Given the description of an element on the screen output the (x, y) to click on. 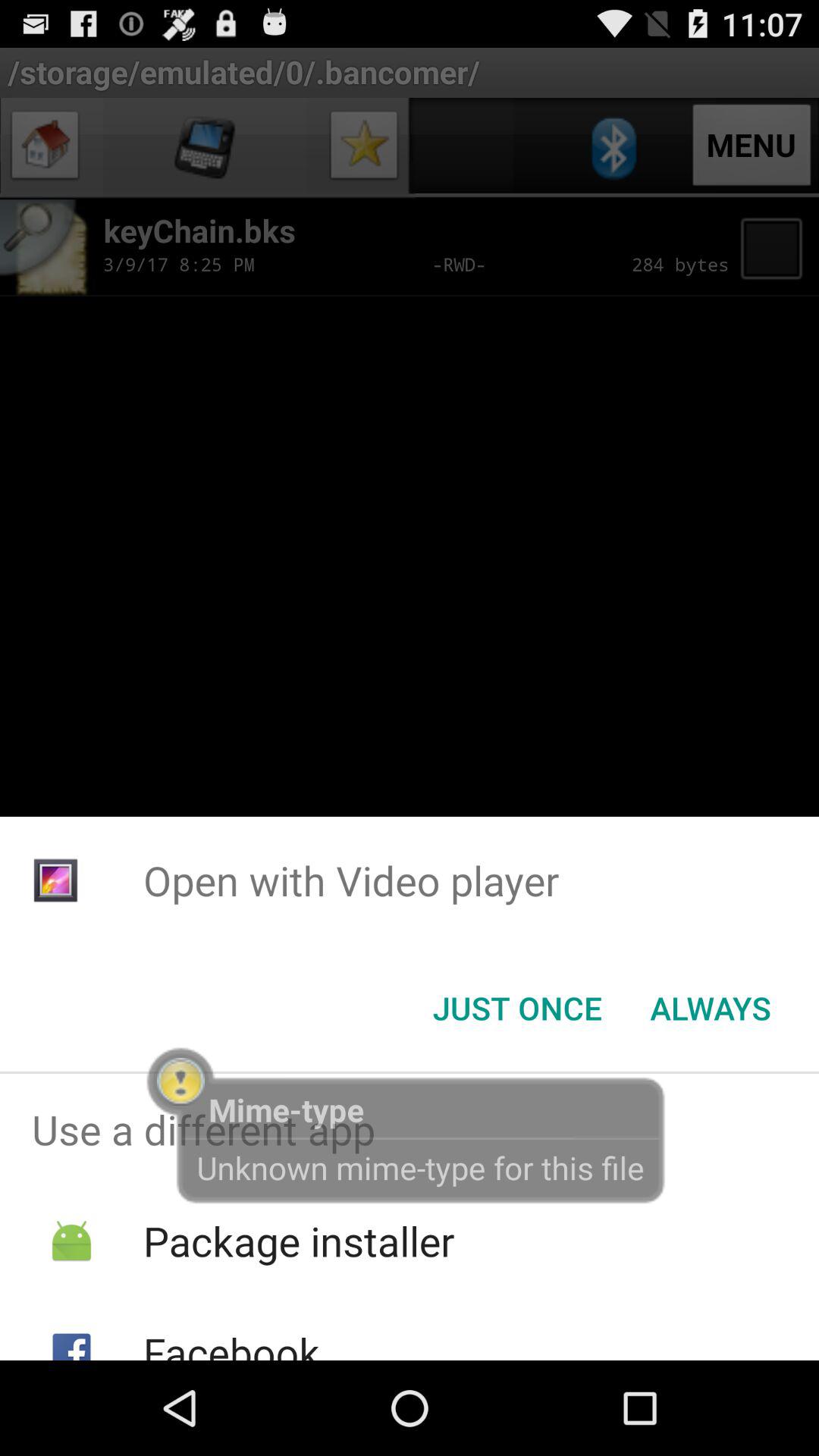
scroll to the use a different icon (409, 1129)
